Given the description of an element on the screen output the (x, y) to click on. 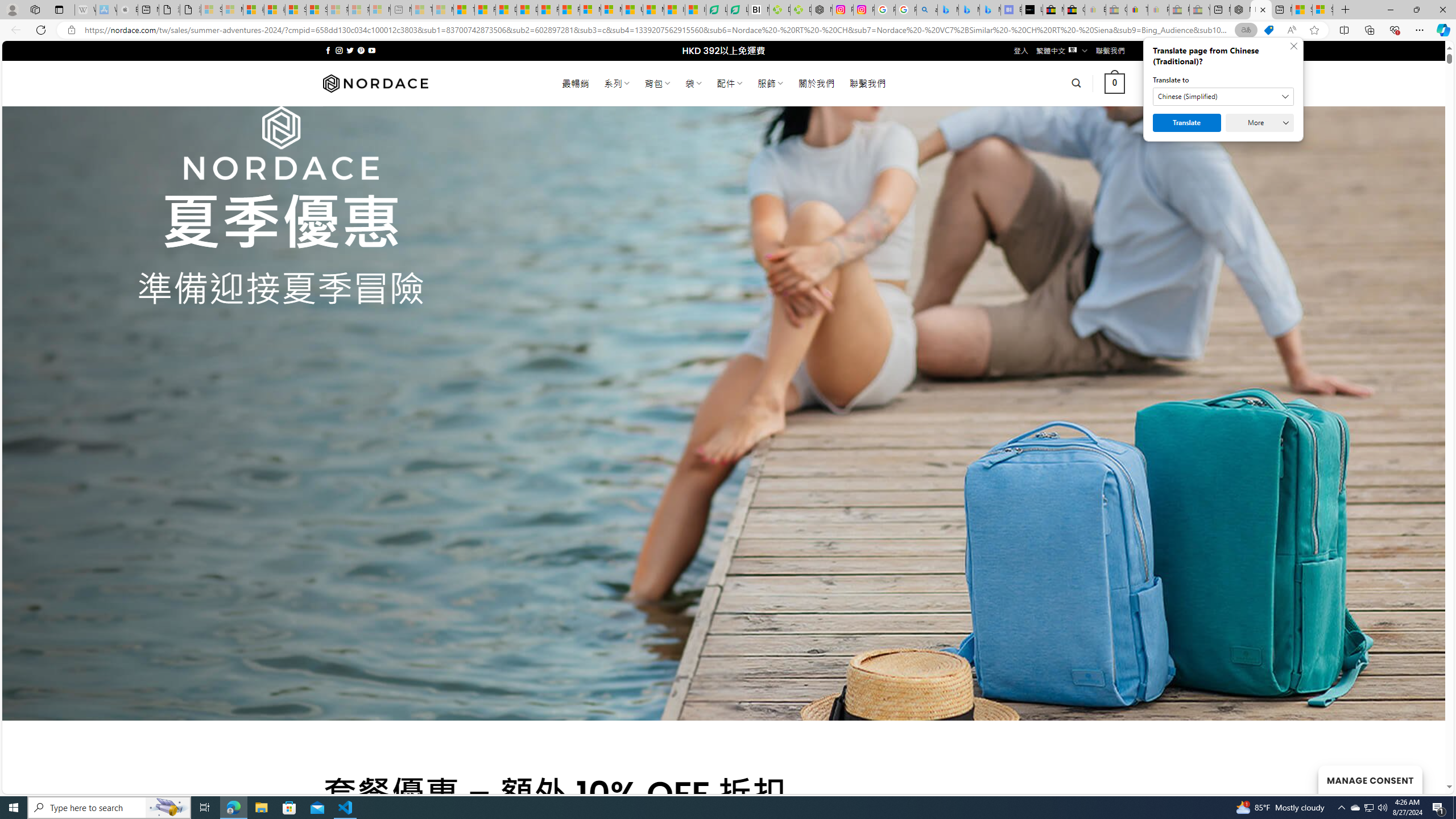
Marine life - MSN - Sleeping (443, 9)
More (1259, 122)
Follow on Twitter (349, 50)
Nordace (374, 83)
 0  (1115, 83)
